Given the description of an element on the screen output the (x, y) to click on. 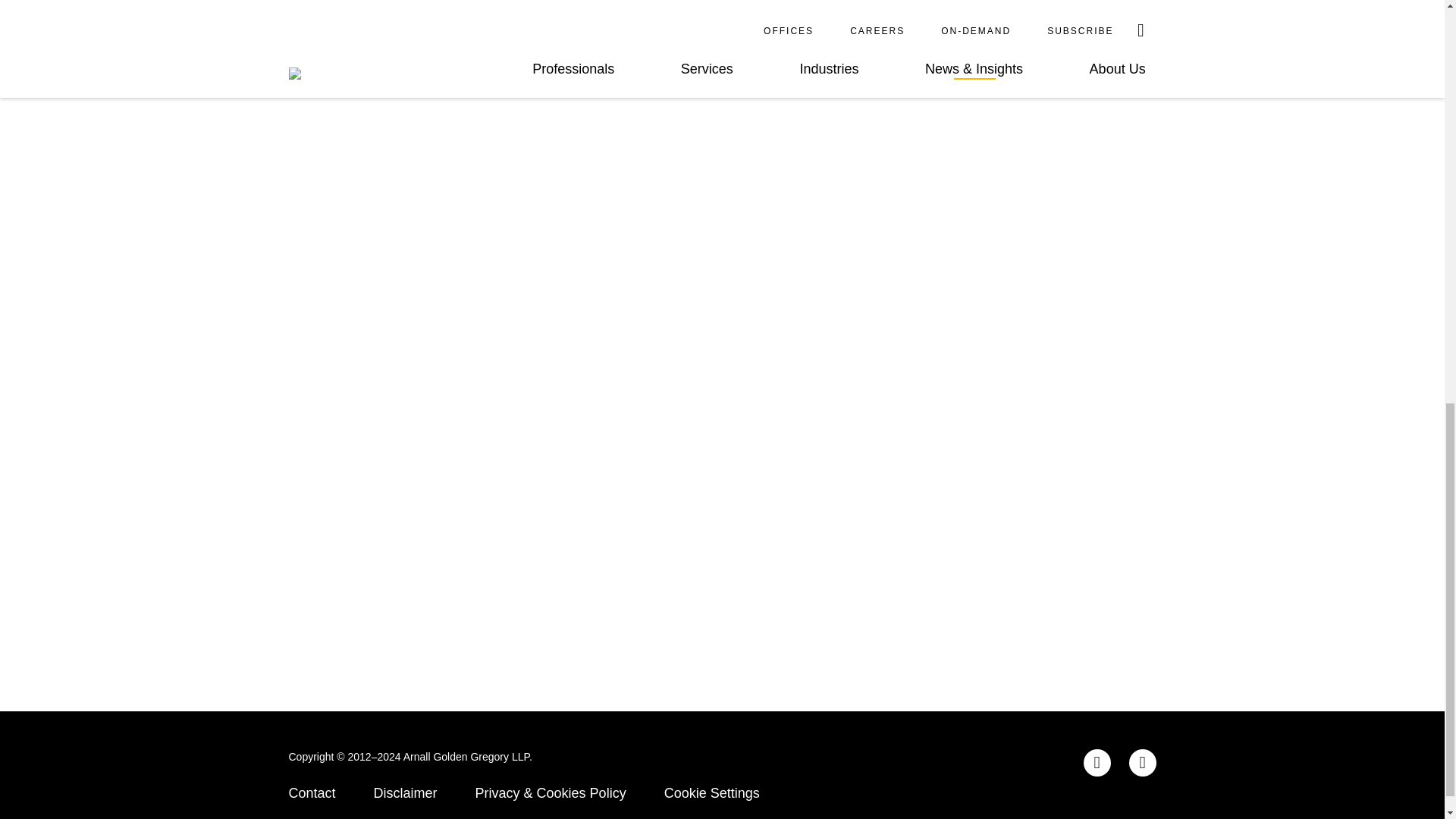
Contact (311, 792)
Cookie Settings (711, 792)
Disclaimer (406, 792)
